Given the description of an element on the screen output the (x, y) to click on. 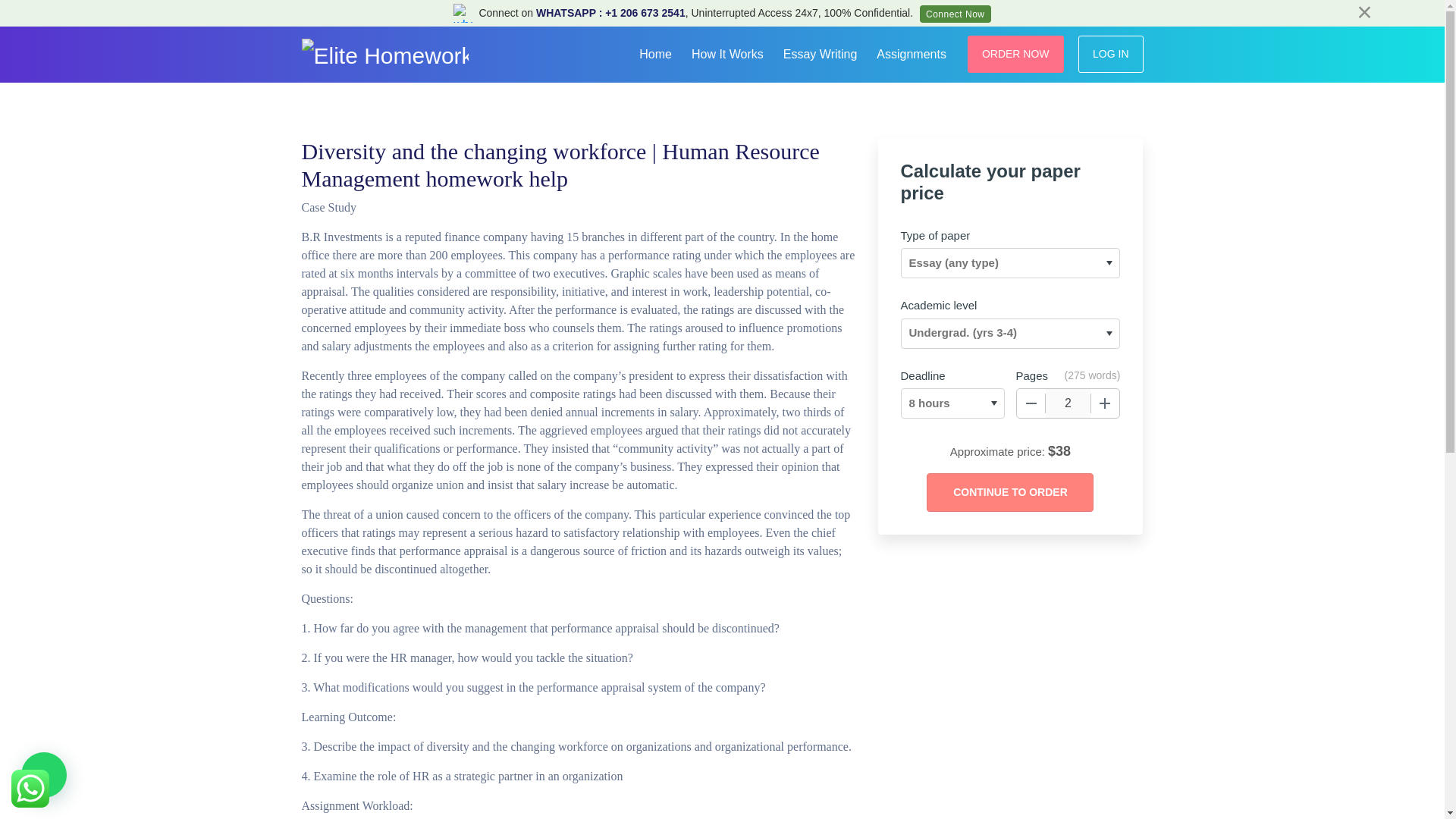
How It Works (727, 52)
Assignments (911, 52)
2 (1067, 403)
Decrease (1030, 403)
Home (655, 52)
ORDER NOW (1016, 54)
Assignments (911, 52)
Increase (1104, 403)
Essay Writing (820, 52)
How It Works (727, 52)
Continue to order (1009, 492)
Home (655, 52)
Essay Writing (820, 52)
Continue to order (1009, 492)
LOG IN (1110, 54)
